Given the description of an element on the screen output the (x, y) to click on. 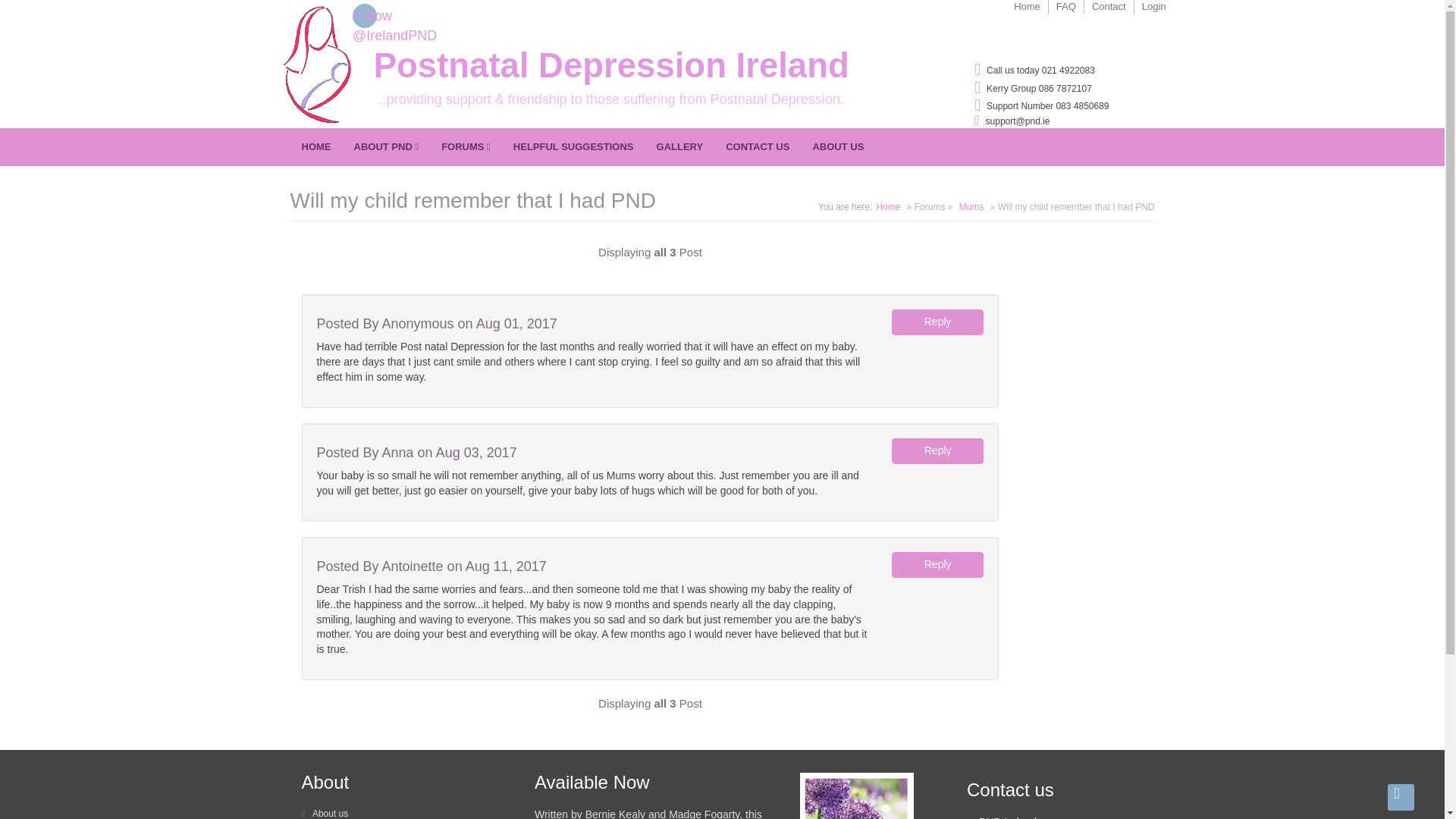
Postnatal Depression Ireland (611, 65)
HOME (315, 146)
Login (1150, 10)
ABOUT PND (386, 146)
Reply (937, 451)
Mums (971, 206)
Reply (937, 565)
HELPFUL SUGGESTIONS (573, 146)
Home (1027, 7)
FAQ (1066, 7)
